Given the description of an element on the screen output the (x, y) to click on. 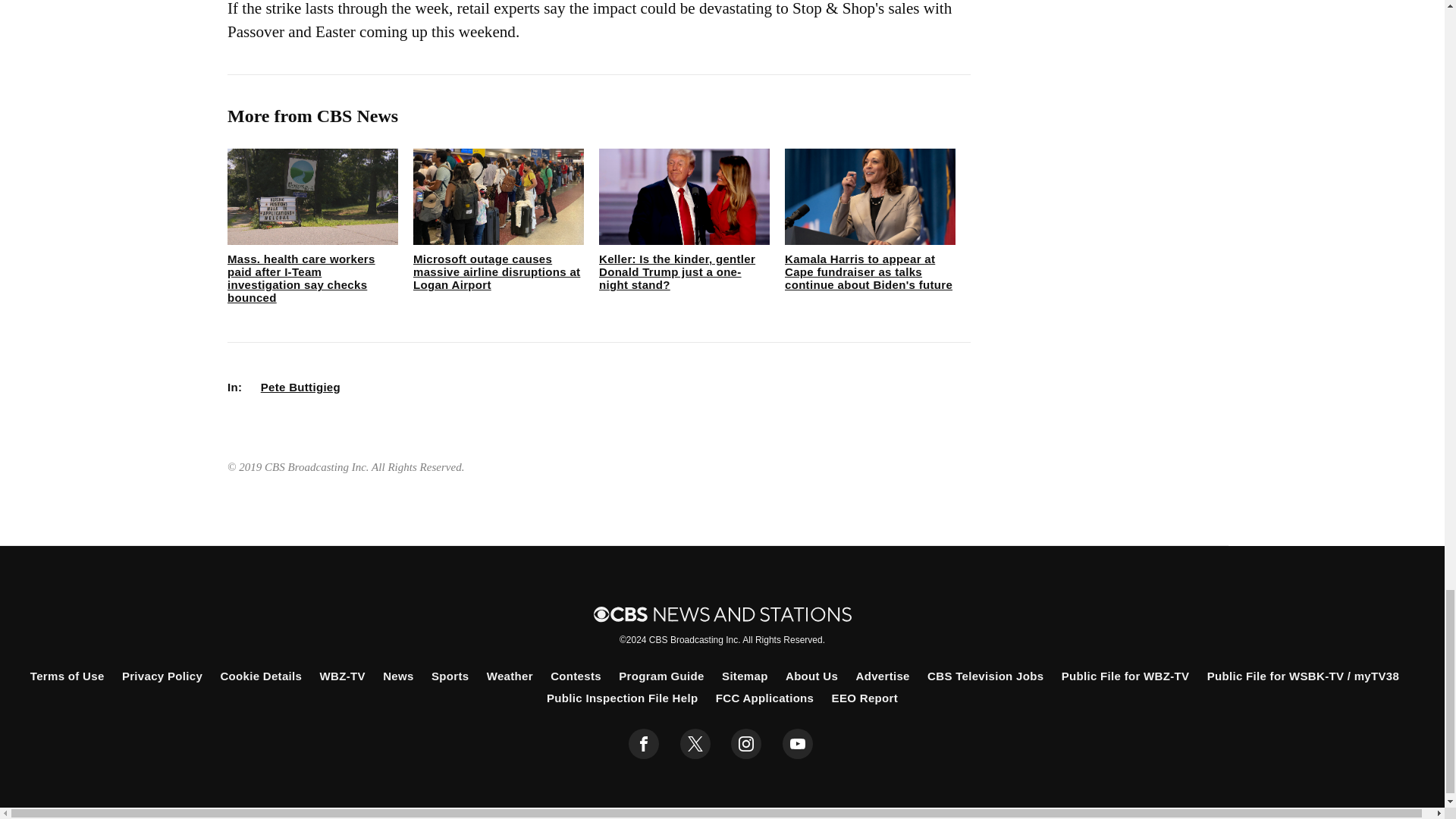
facebook (643, 743)
instagram (745, 743)
youtube (797, 743)
twitter (694, 743)
